Given the description of an element on the screen output the (x, y) to click on. 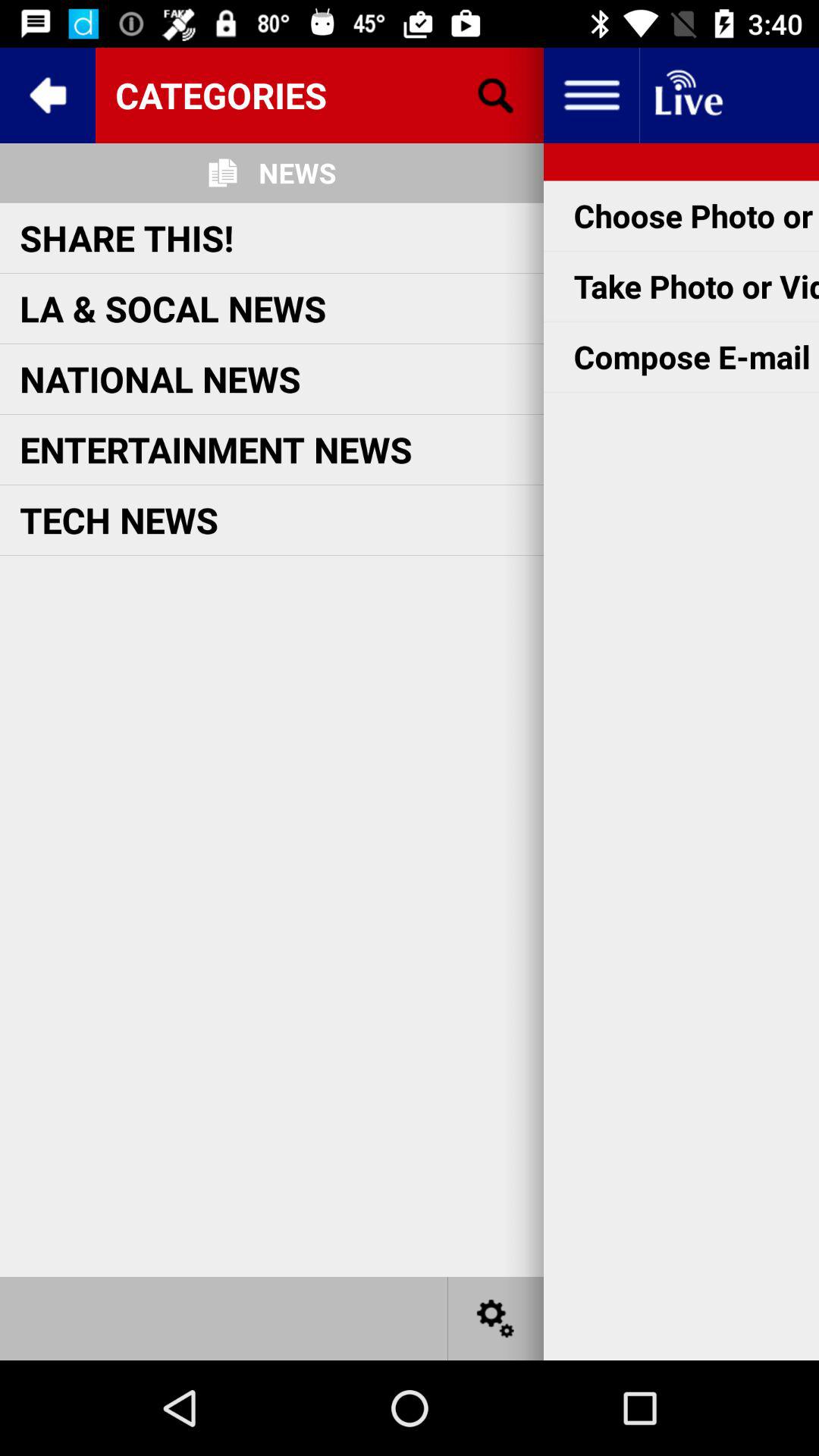
toggle settings (495, 1318)
